Given the description of an element on the screen output the (x, y) to click on. 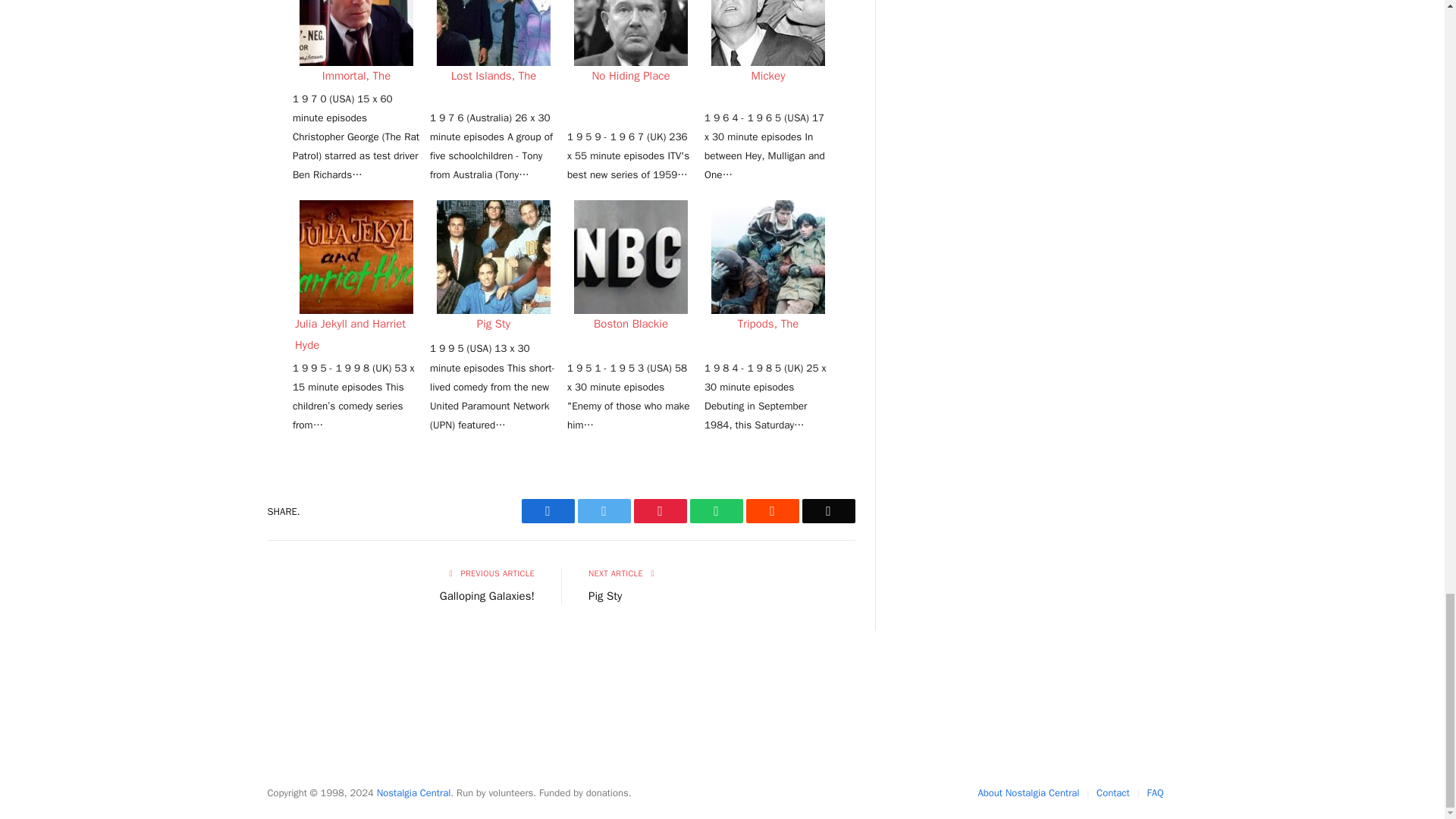
Julia Jekyll and Harriet Hyde (356, 256)
Mickey (768, 33)
Immortal, The (356, 33)
No Hiding Place (630, 33)
Lost Islands, The (493, 33)
